Given the description of an element on the screen output the (x, y) to click on. 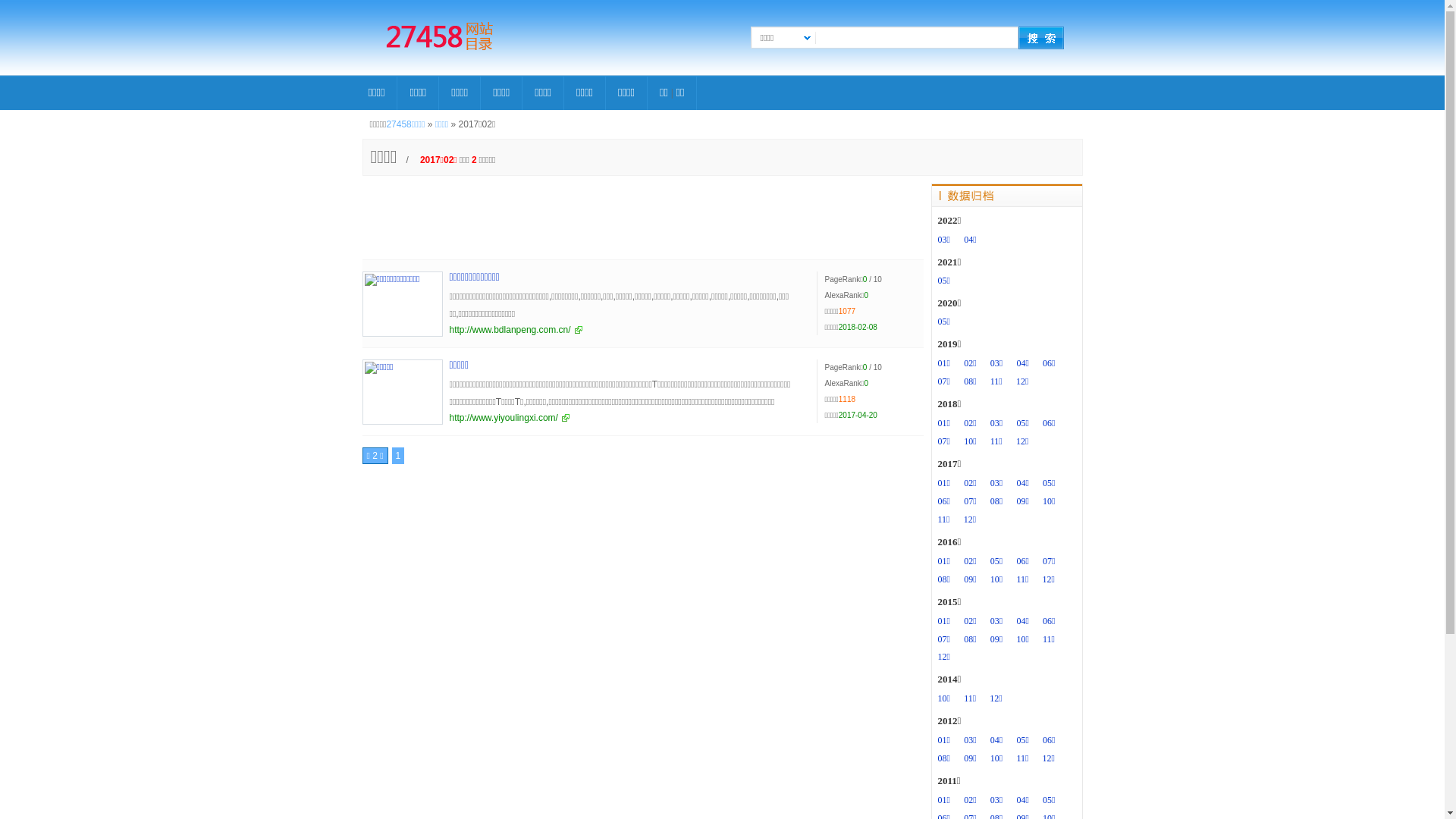
http://www.yiyoulingxi.com/ Element type: text (508, 417)
http://www.bdlanpeng.com.cn/ Element type: text (514, 329)
Advertisement Element type: hover (643, 217)
